Given the description of an element on the screen output the (x, y) to click on. 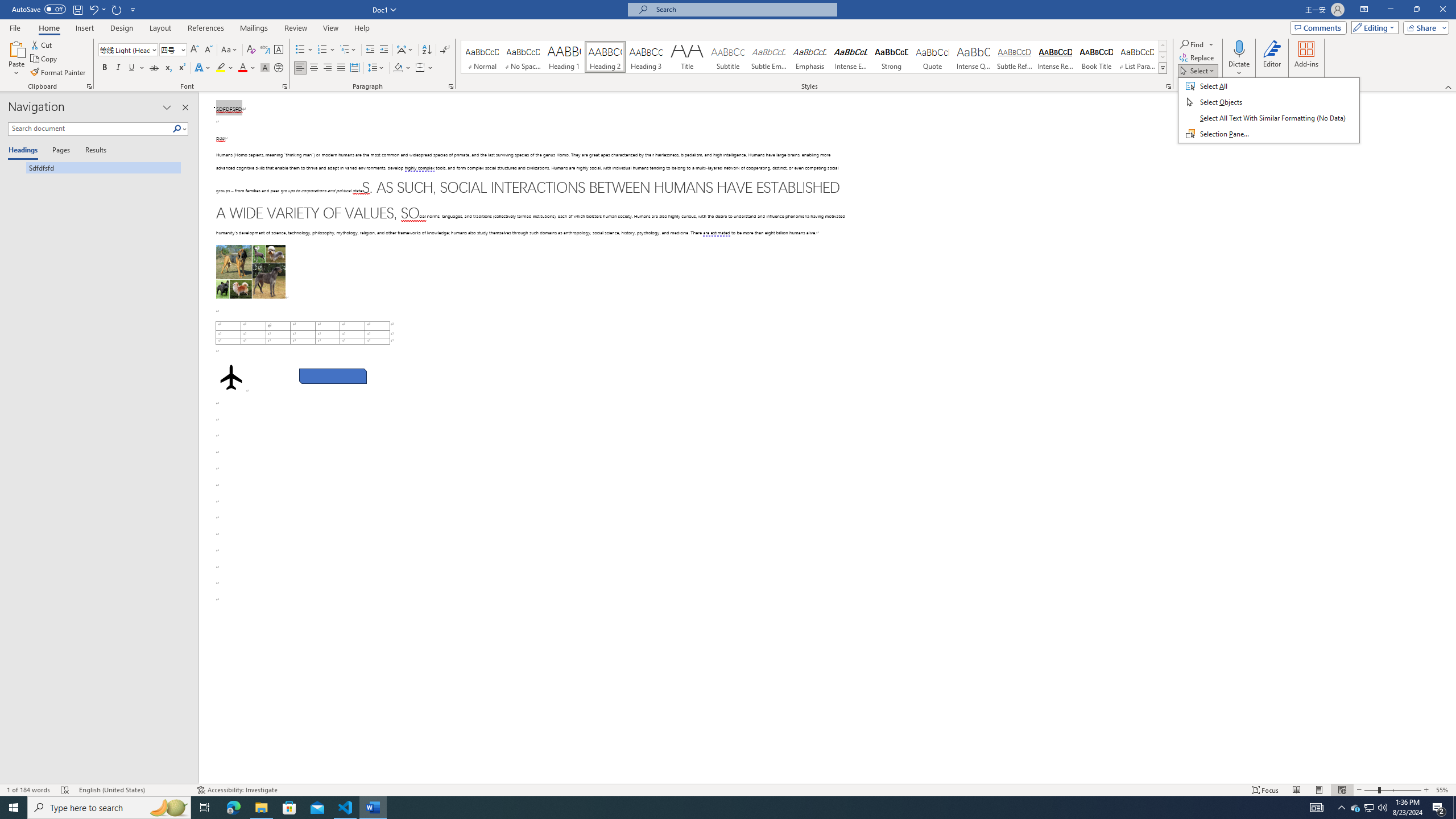
Word - 1 running window (373, 807)
